Given the description of an element on the screen output the (x, y) to click on. 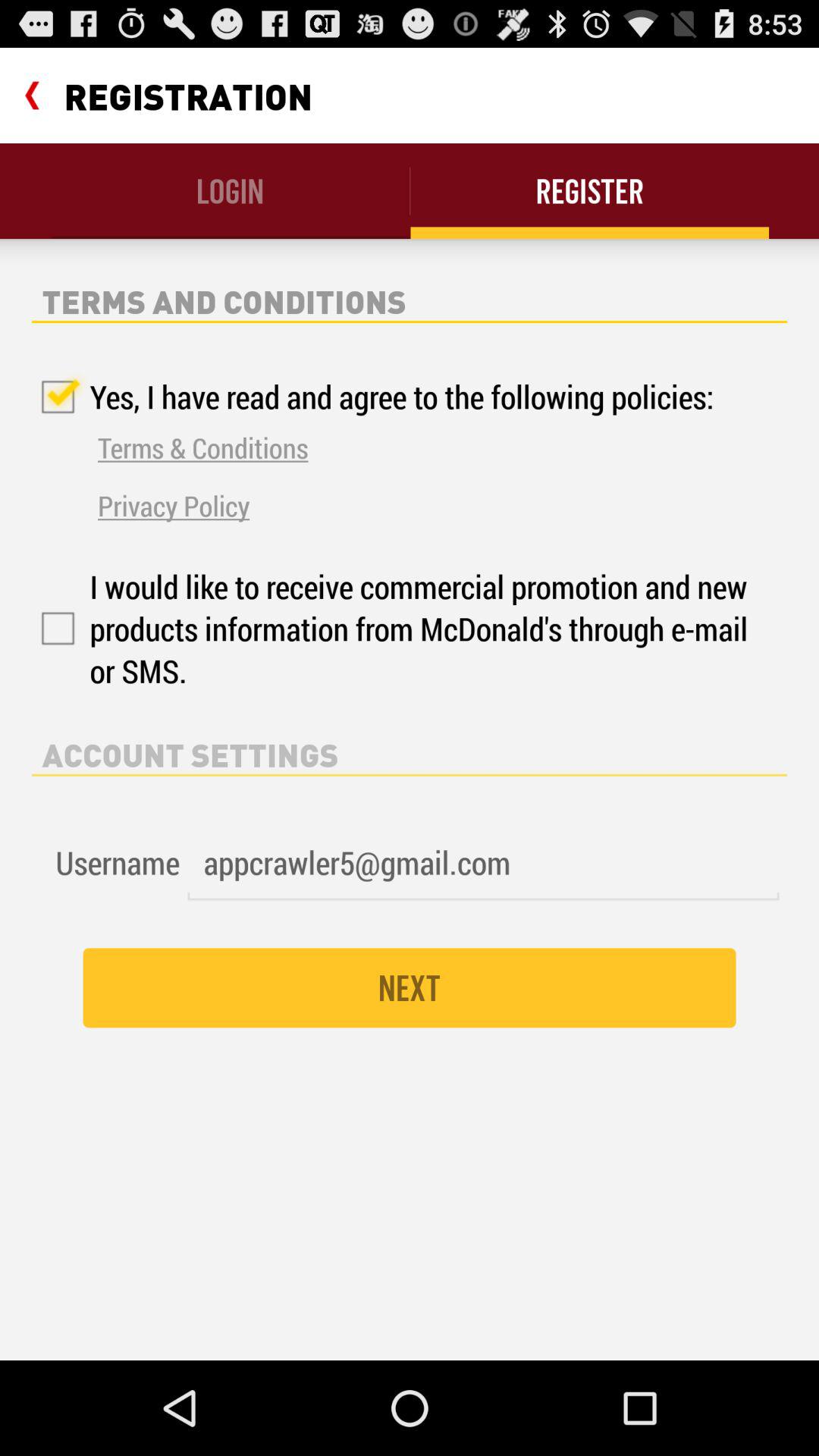
select privacy policy item (173, 505)
